Given the description of an element on the screen output the (x, y) to click on. 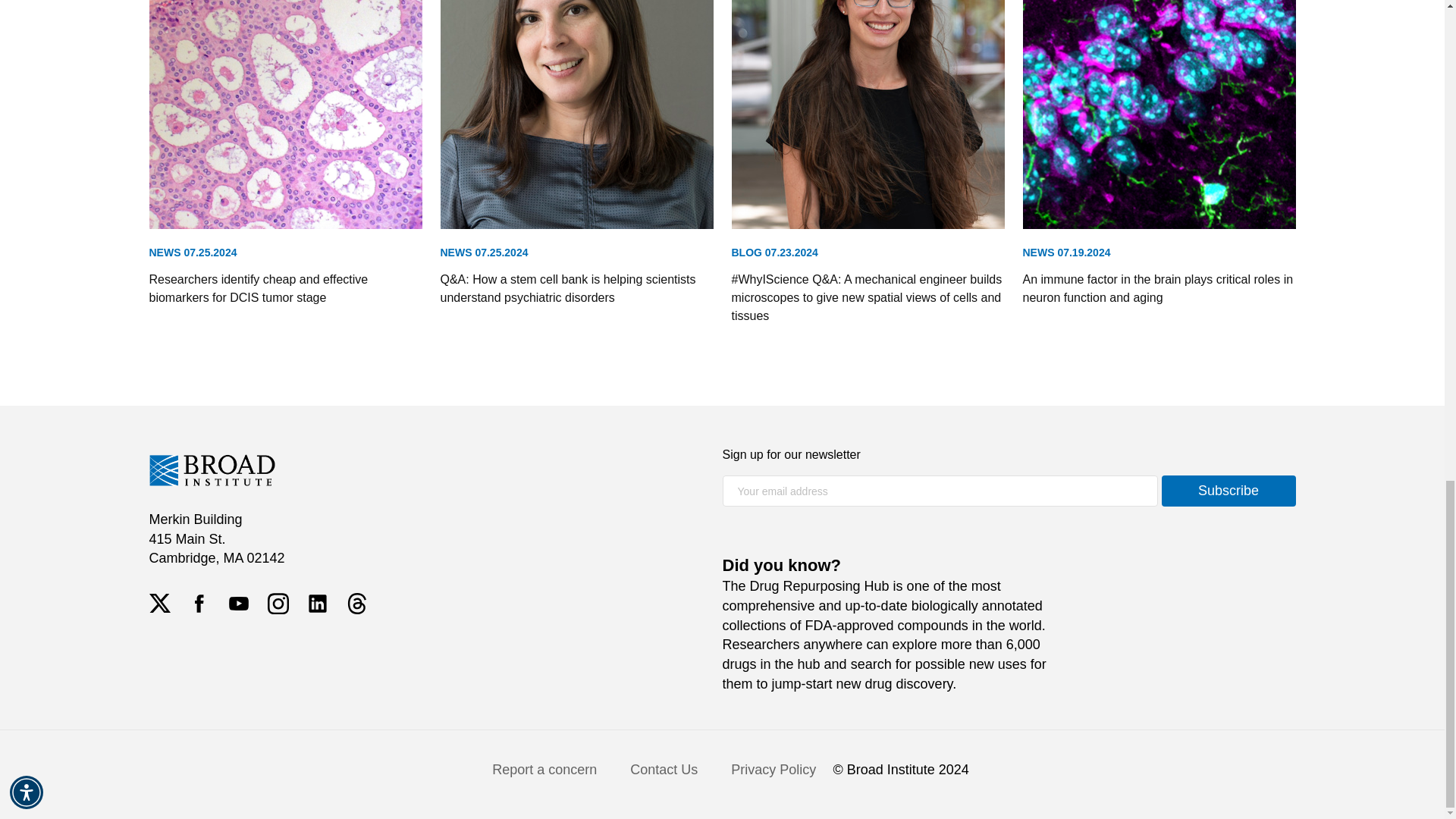
Subscribe (1228, 817)
